Given the description of an element on the screen output the (x, y) to click on. 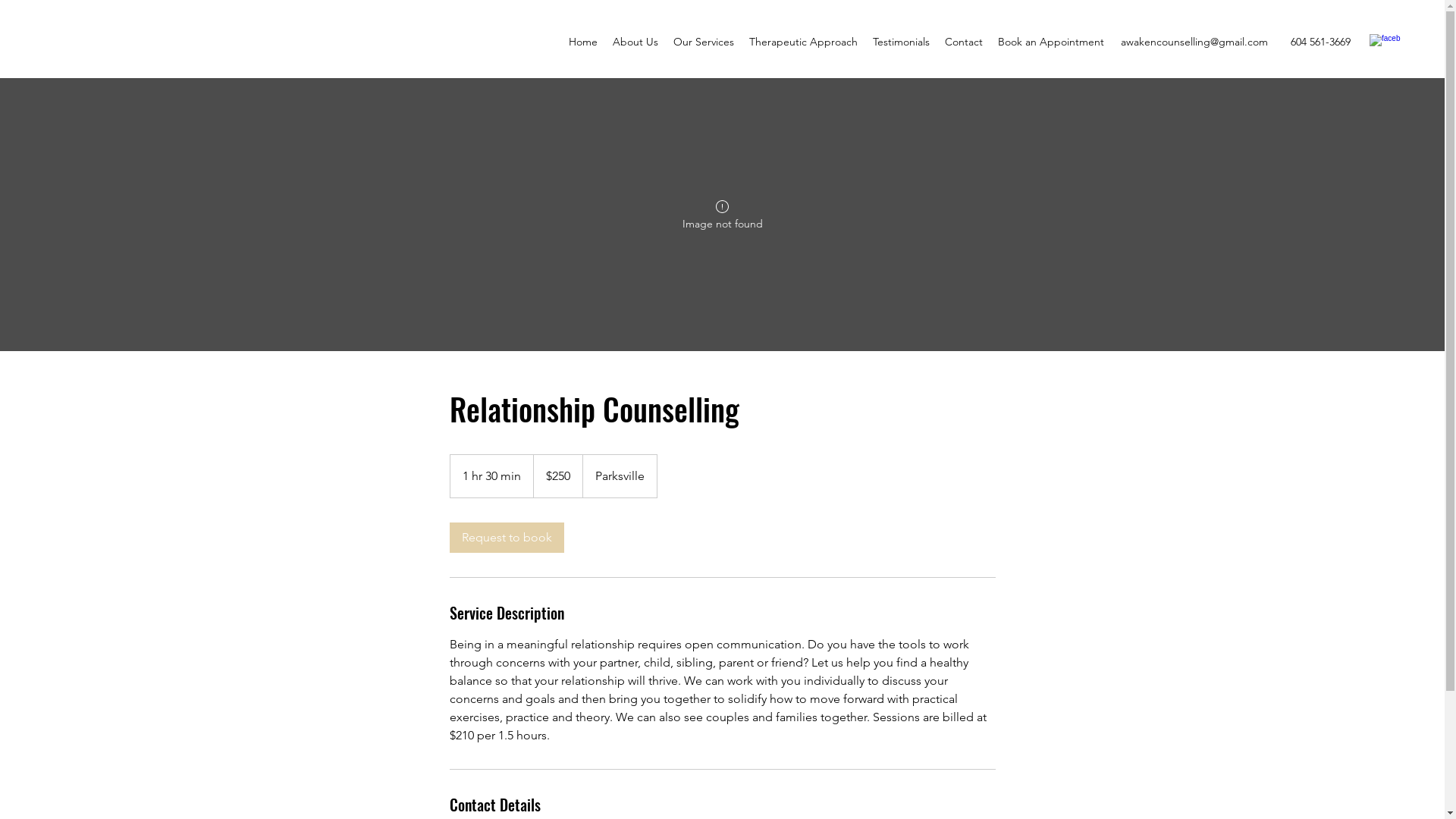
Contact Element type: text (963, 41)
Book an Appointment Element type: text (1050, 41)
Therapeutic Approach Element type: text (803, 41)
awakencounselling@gmail.com Element type: text (1193, 41)
Request to book Element type: text (505, 537)
About Us Element type: text (635, 41)
Home Element type: text (583, 41)
Our Services Element type: text (703, 41)
Testimonials Element type: text (901, 41)
